Given the description of an element on the screen output the (x, y) to click on. 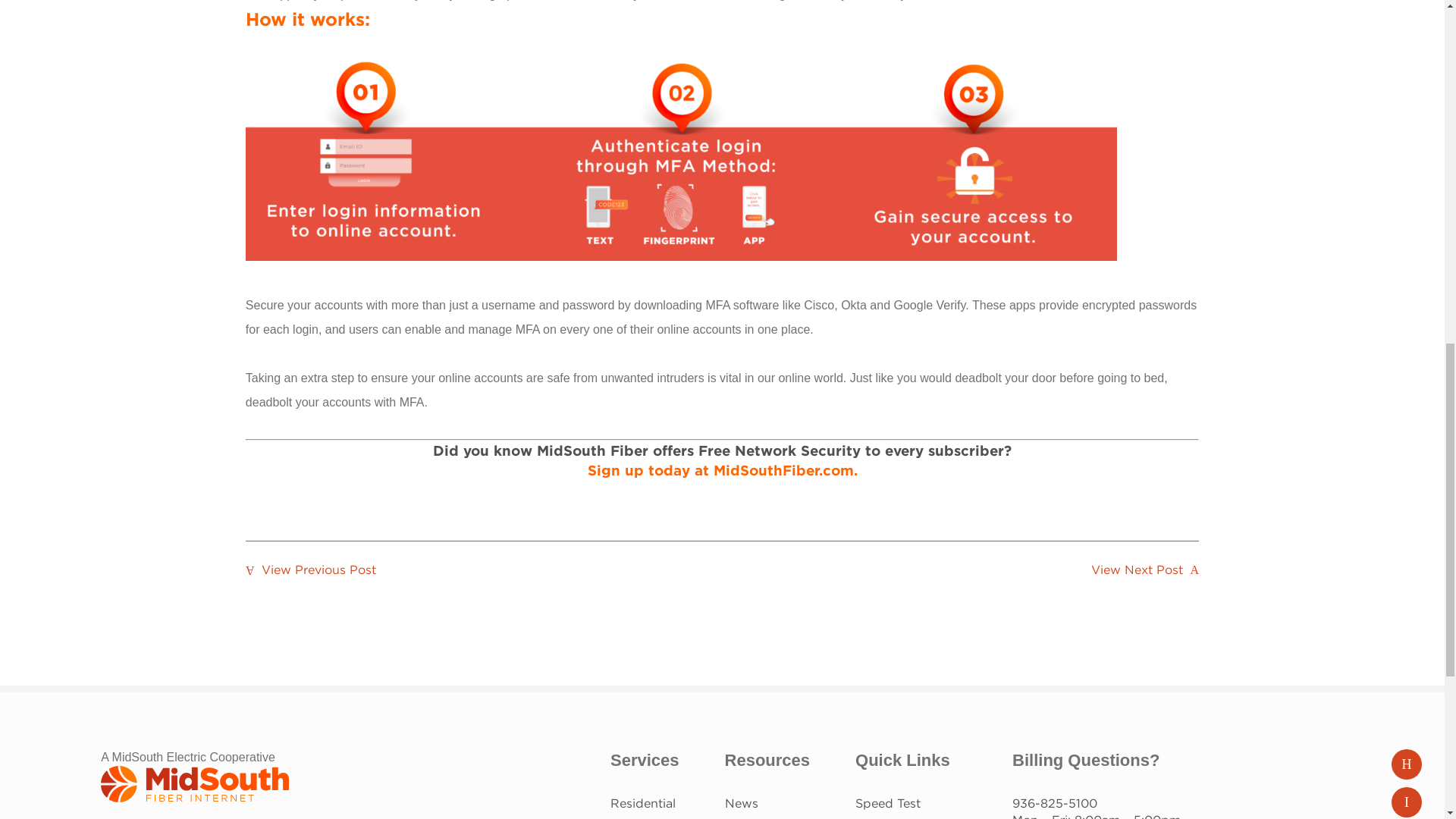
View Previous Post (311, 570)
View Next Post (1144, 570)
Residential (642, 803)
News (741, 803)
Sign up today at MidSouthFiber.com. (721, 469)
936-825-5100 (1054, 803)
Speed Test (888, 803)
